Given the description of an element on the screen output the (x, y) to click on. 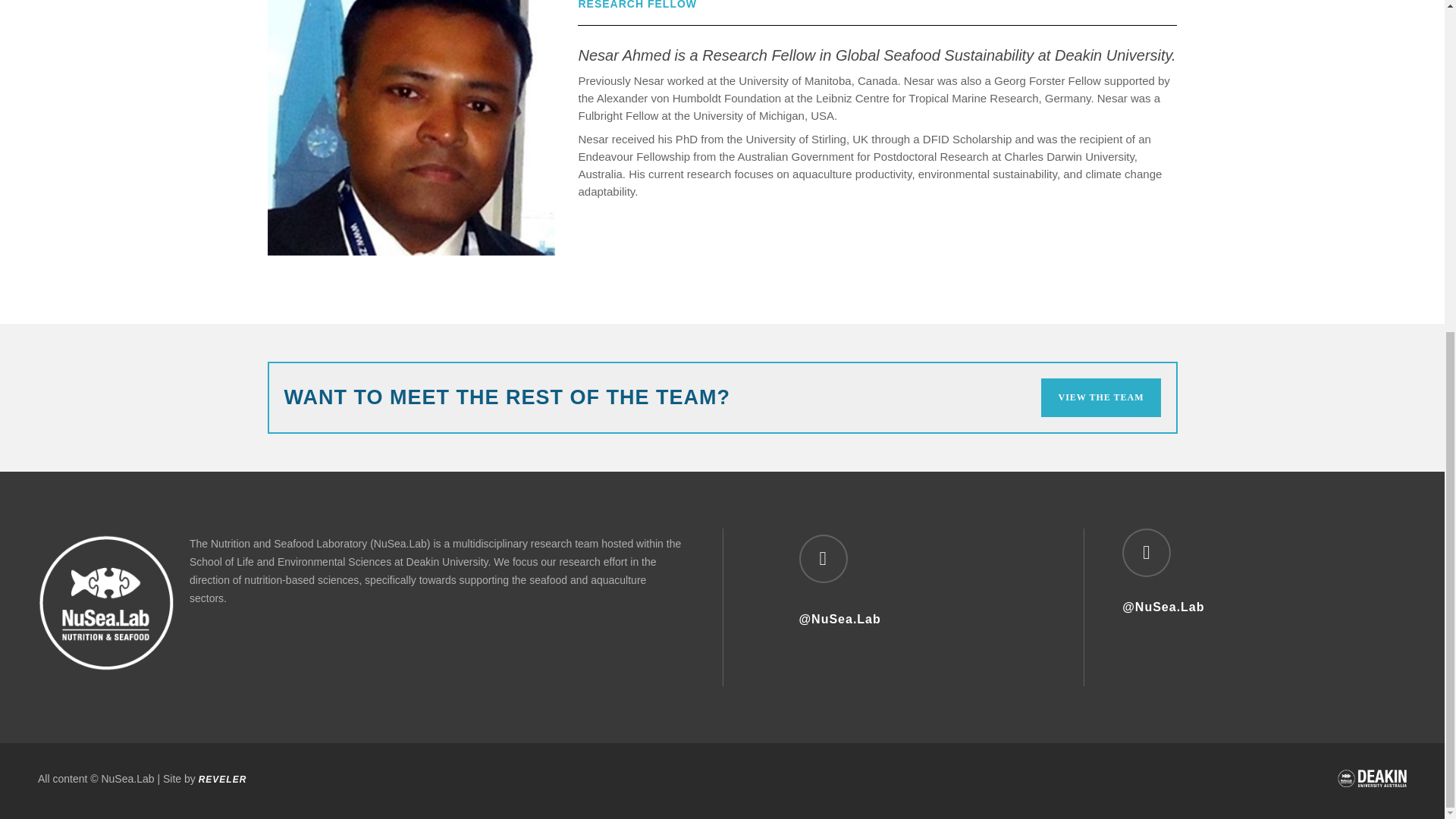
Nesar-Ahmed (410, 127)
